Given the description of an element on the screen output the (x, y) to click on. 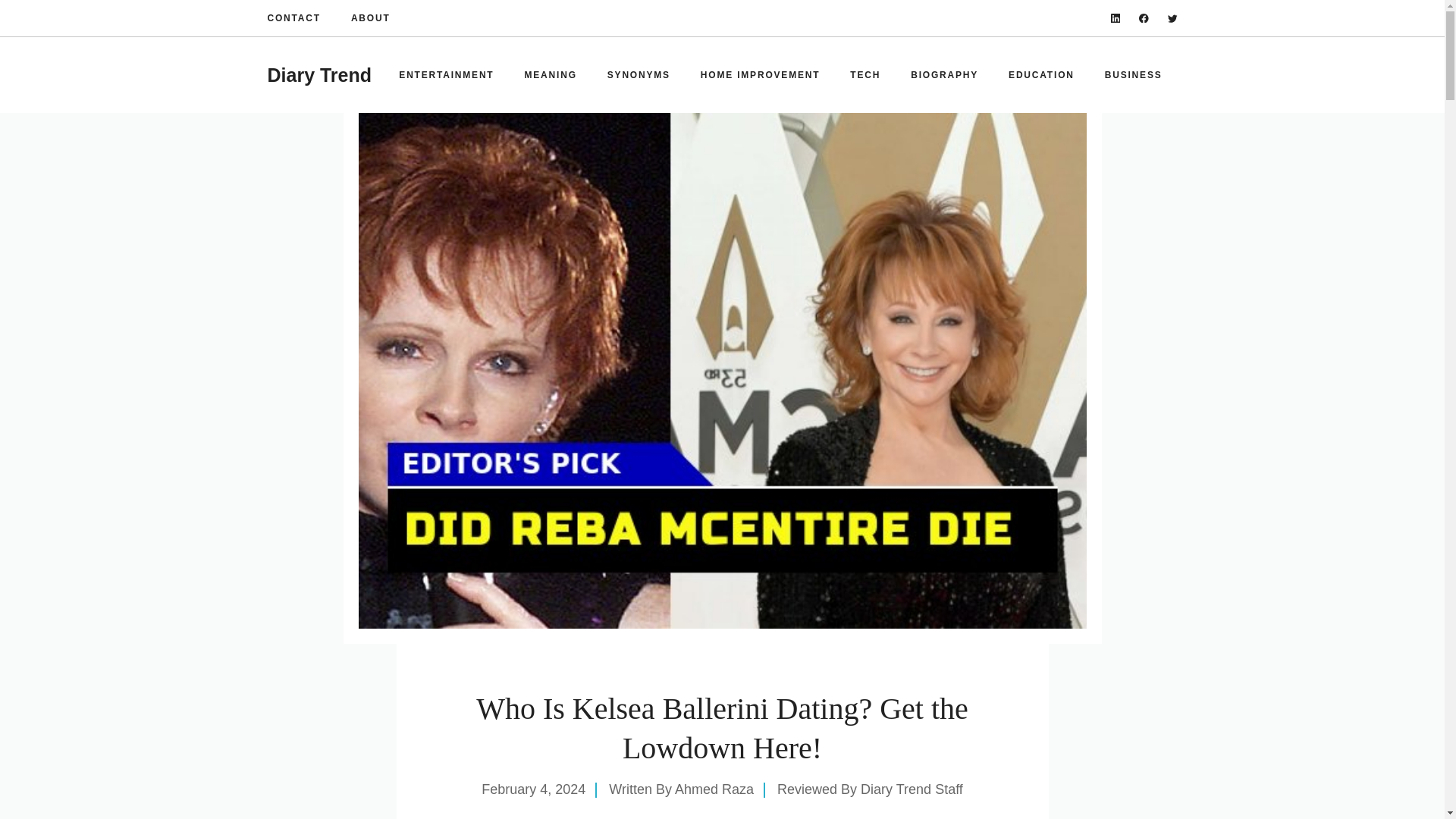
CONTACT (293, 18)
SYNONYMS (638, 74)
BUSINESS (1133, 74)
ENTERTAINMENT (446, 74)
ABOUT (370, 18)
TECH (864, 74)
BIOGRAPHY (943, 74)
MEANING (550, 74)
HOME IMPROVEMENT (759, 74)
EDUCATION (1040, 74)
Diary Trend (318, 74)
